Given the description of an element on the screen output the (x, y) to click on. 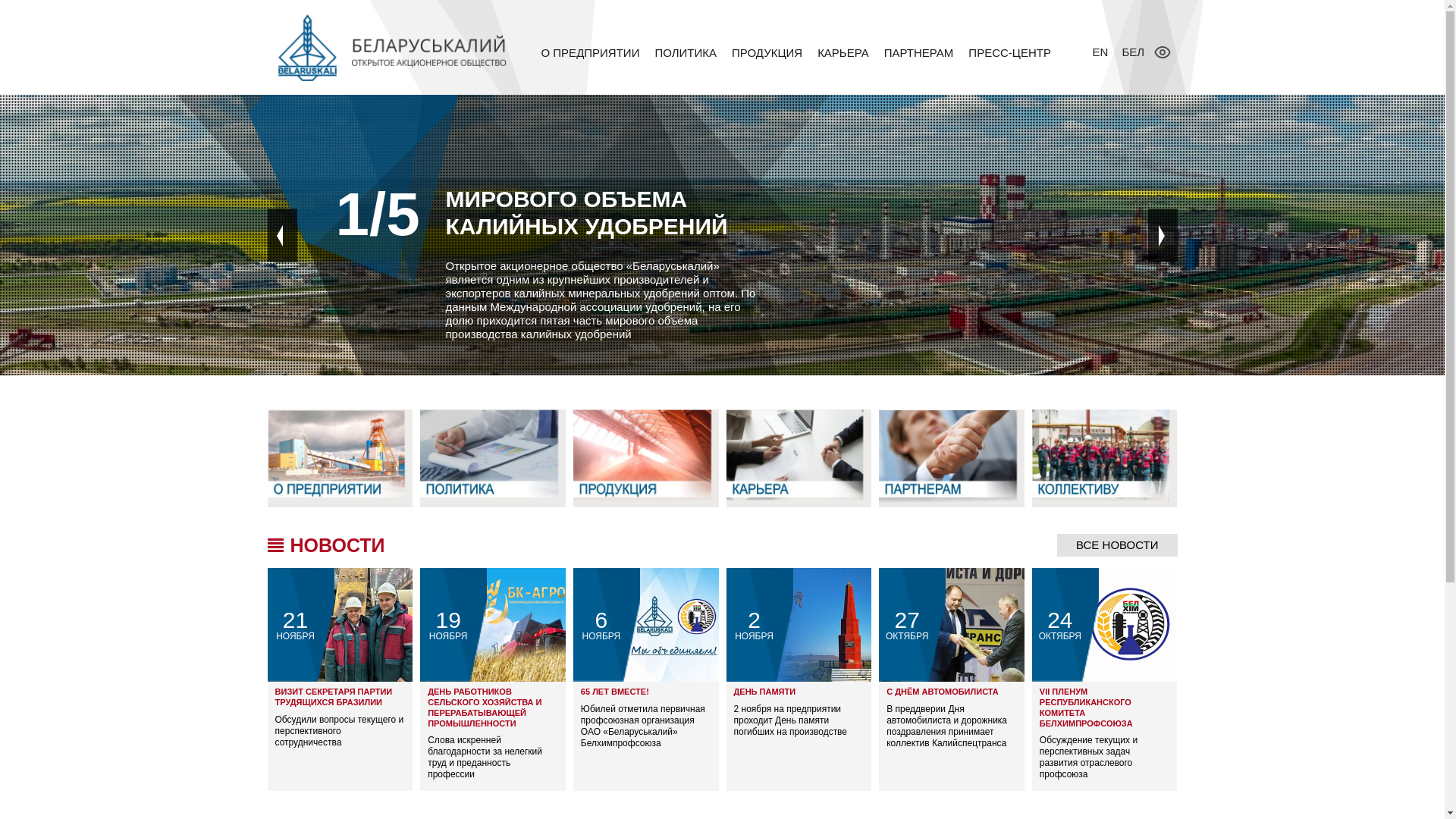
EN Element type: text (1102, 51)
